Given the description of an element on the screen output the (x, y) to click on. 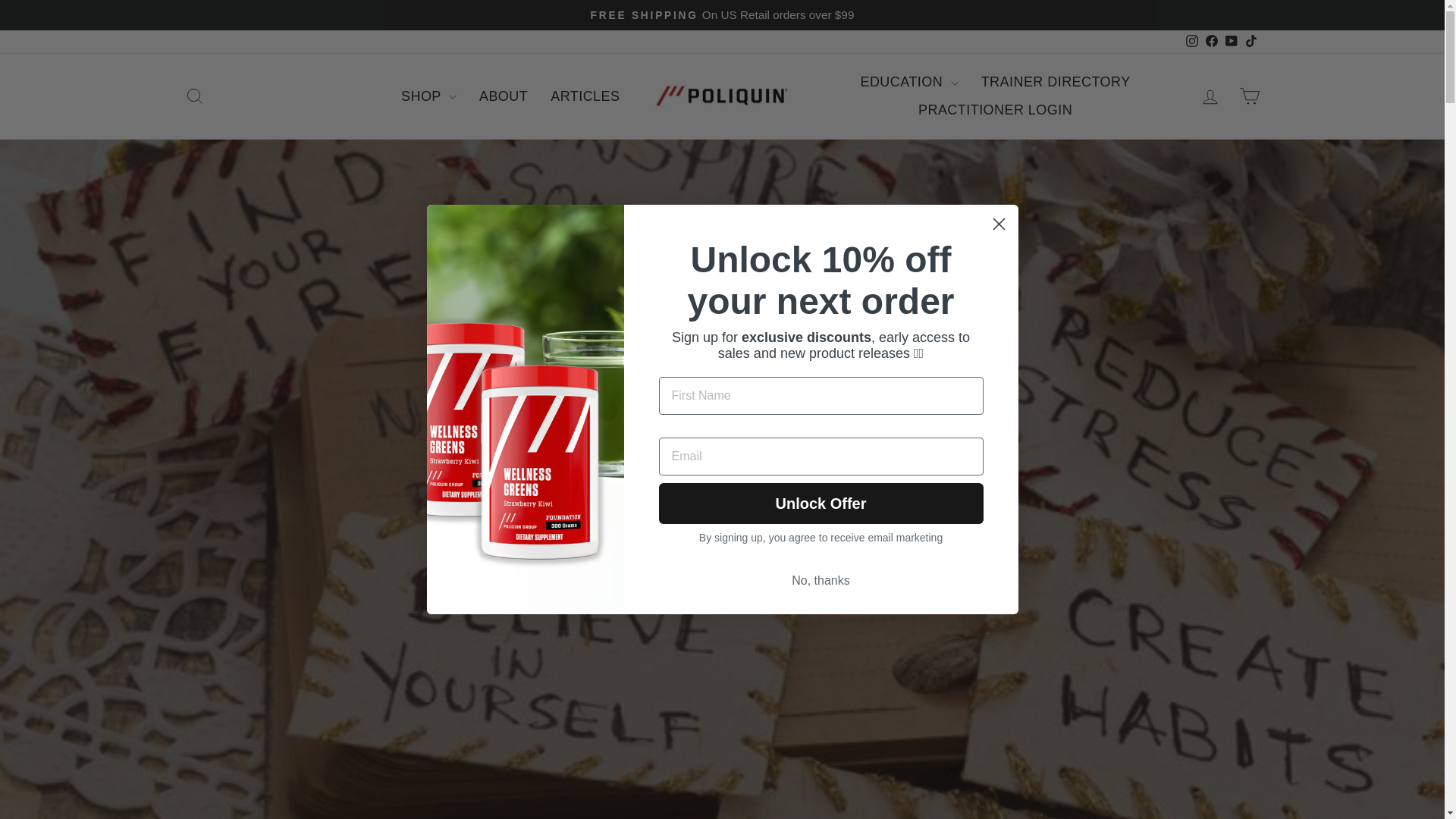
ICON-SEARCH (194, 96)
ACCOUNT (1210, 96)
instagram (1192, 40)
